Given the description of an element on the screen output the (x, y) to click on. 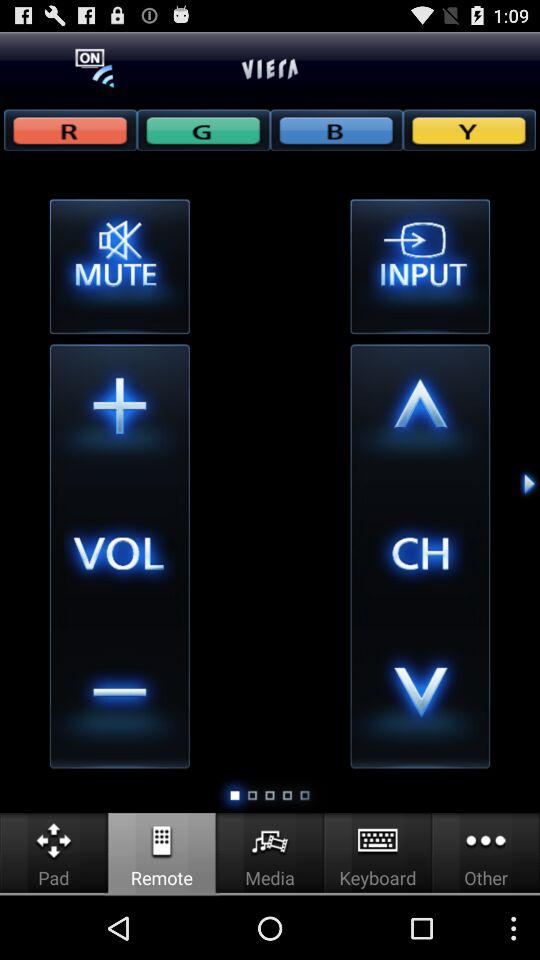
add volume (119, 414)
